Given the description of an element on the screen output the (x, y) to click on. 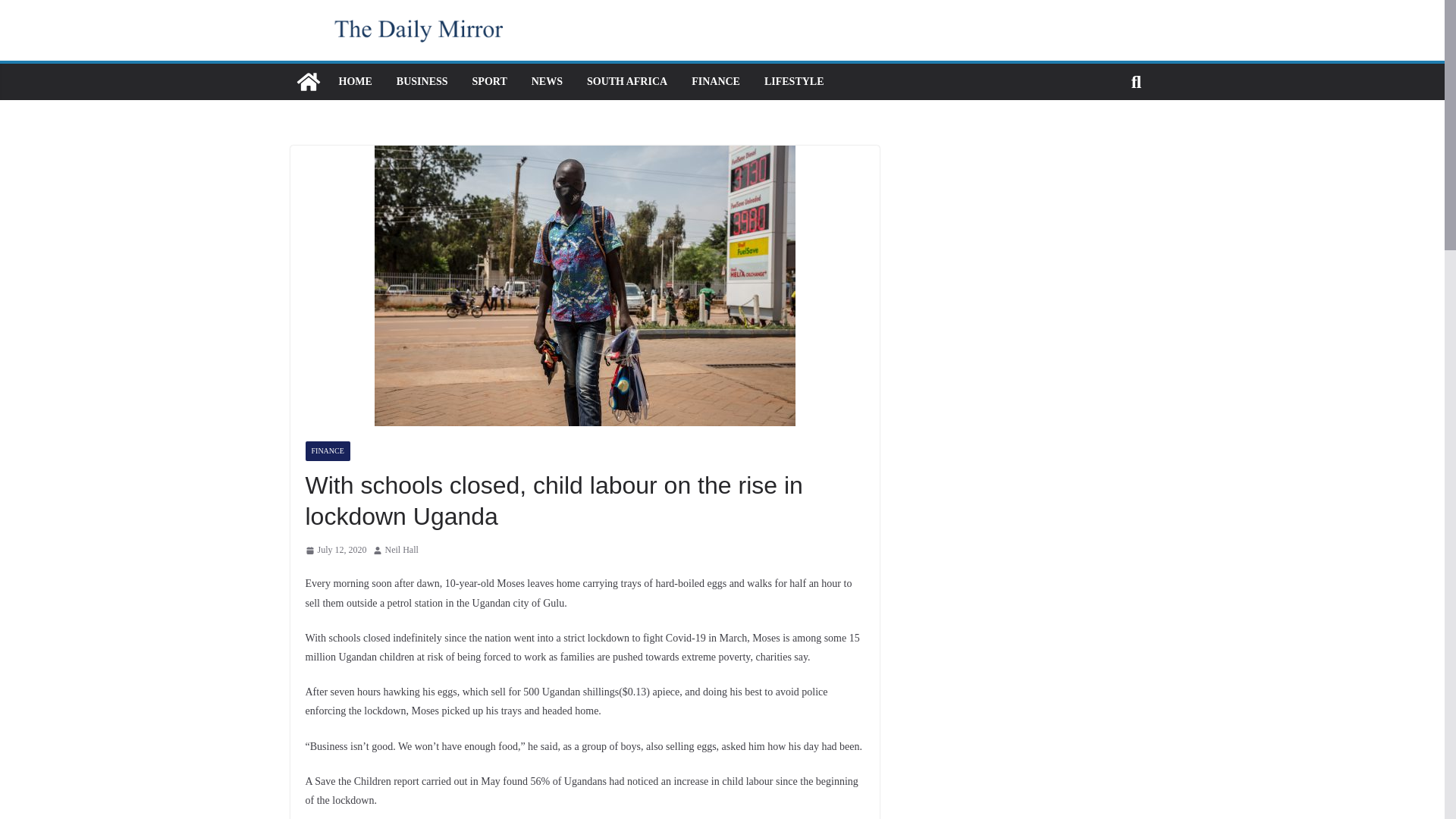
HOME (354, 81)
6:14 pm (335, 550)
SOUTH AFRICA (626, 81)
Neil Hall (402, 550)
LIFESTYLE (794, 81)
FINANCE (326, 451)
BUSINESS (422, 81)
The Daily Mirror (307, 81)
NEWS (546, 81)
SPORT (488, 81)
